Given the description of an element on the screen output the (x, y) to click on. 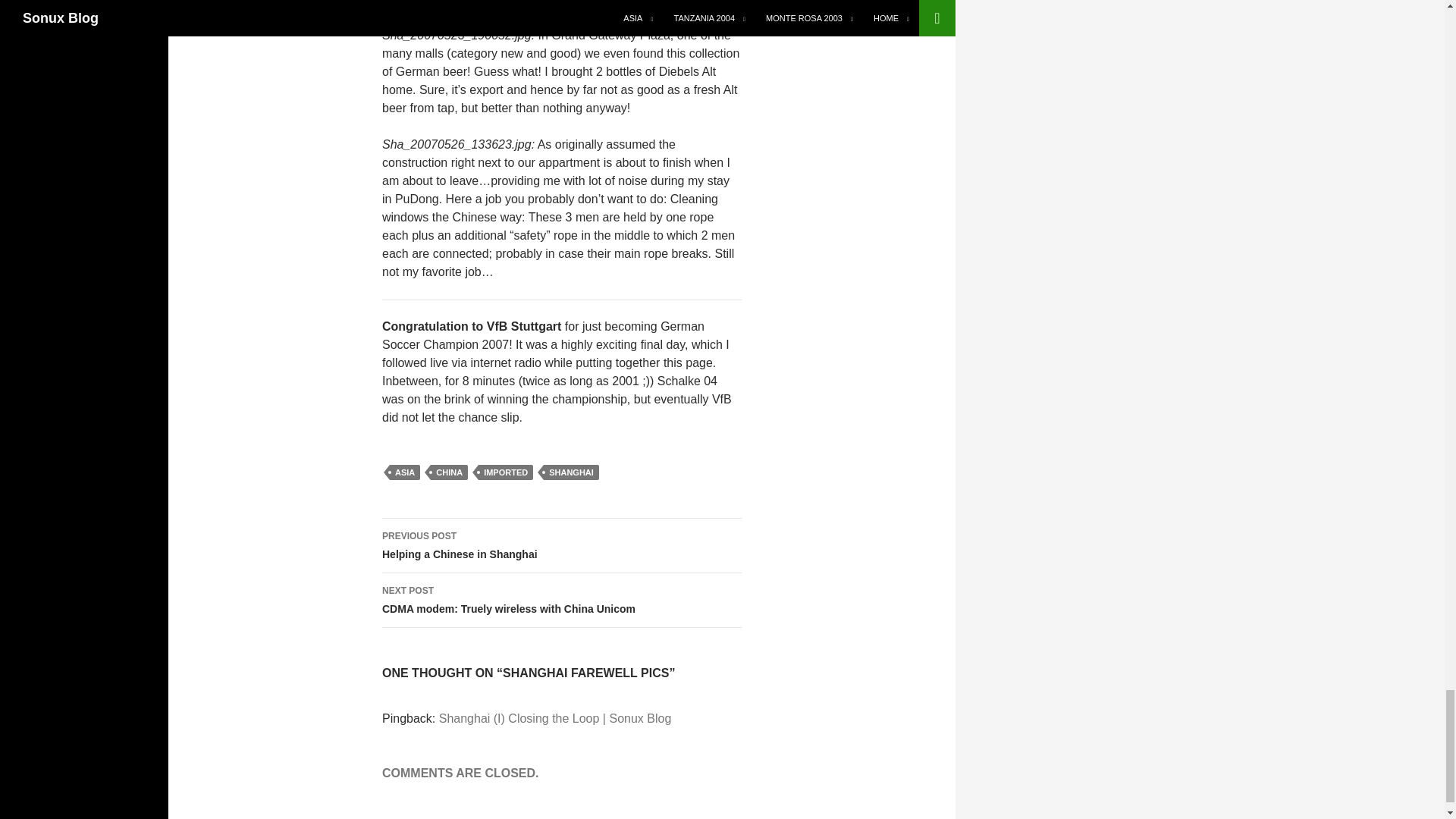
CHINA (448, 472)
ASIA (405, 472)
